Given the description of an element on the screen output the (x, y) to click on. 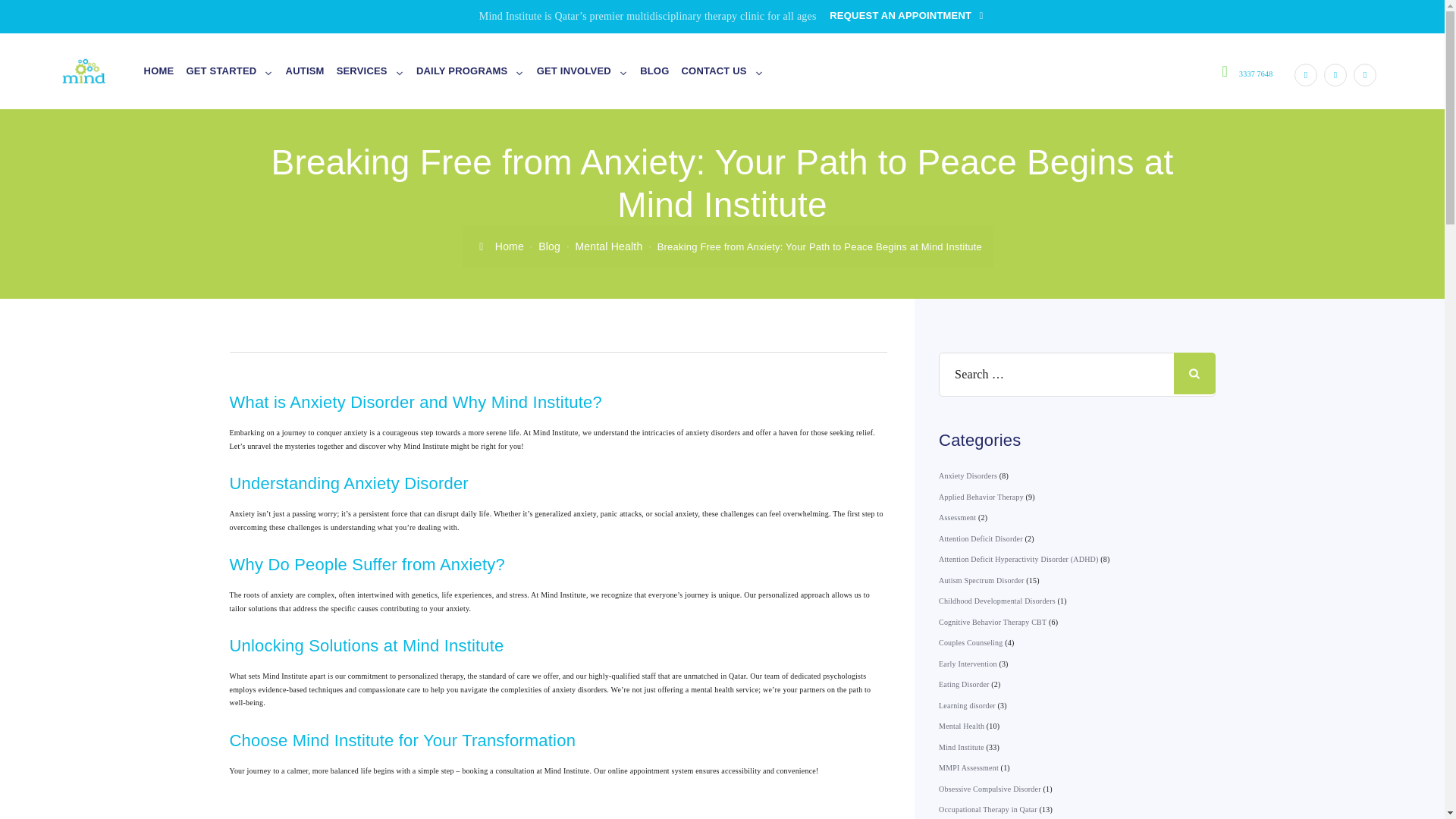
Go to the Mental Health Category archives. (608, 245)
AUTISM (304, 70)
BLOG (654, 70)
HOME (159, 70)
GET STARTED (229, 70)
GET INVOLVED (582, 70)
3337 7648 (1255, 73)
Search (1194, 372)
Go to Blog. (549, 245)
Mind Institute Doha, Qatar (99, 70)
REQUEST AN APPOINTMENT (908, 15)
Search (1194, 372)
CONTACT US (721, 70)
Go to Mind Institute Doha, Qatar. (499, 245)
SERVICES (370, 70)
